Given the description of an element on the screen output the (x, y) to click on. 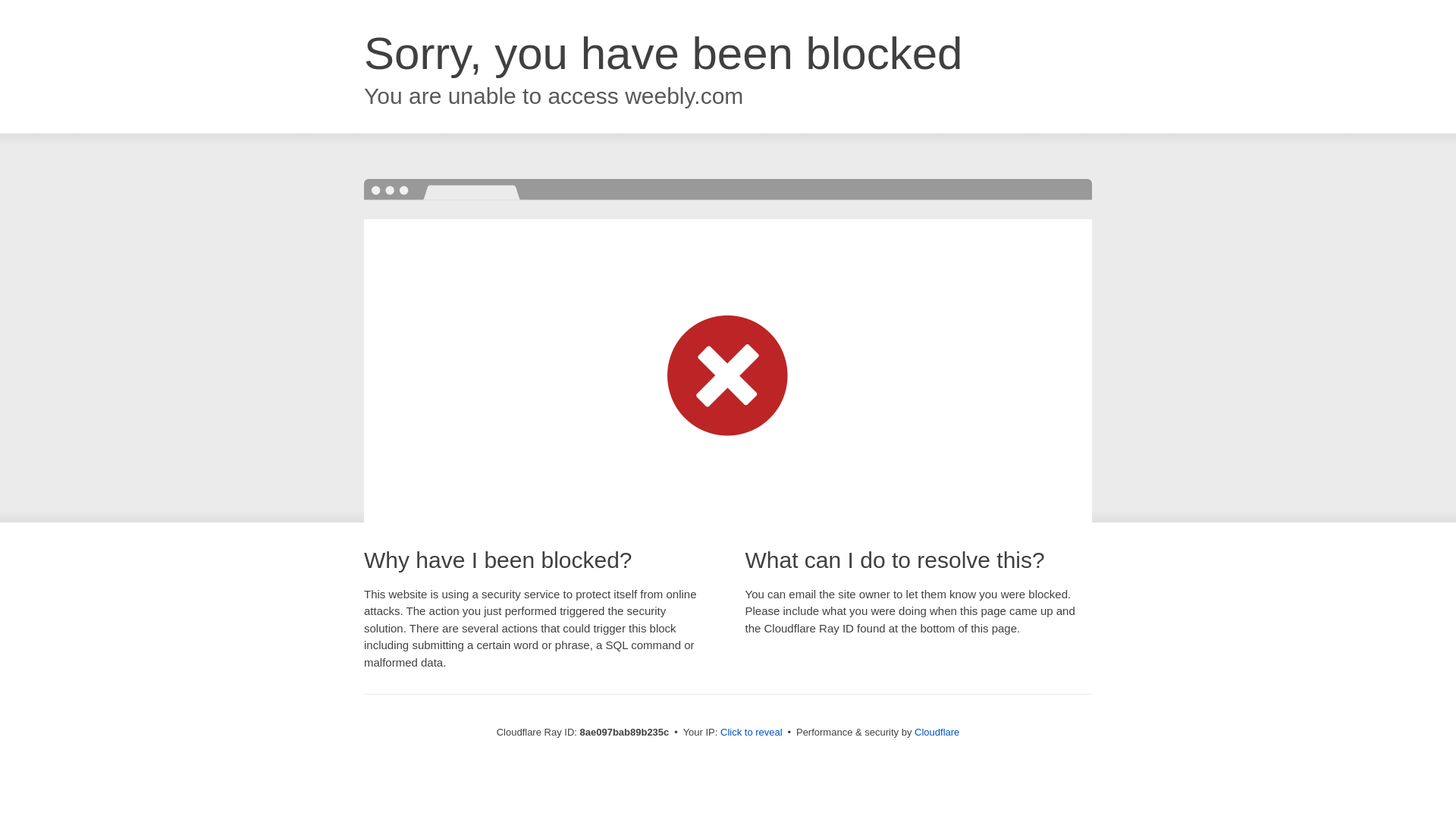
Cloudflare (936, 731)
Click to reveal (751, 732)
